Given the description of an element on the screen output the (x, y) to click on. 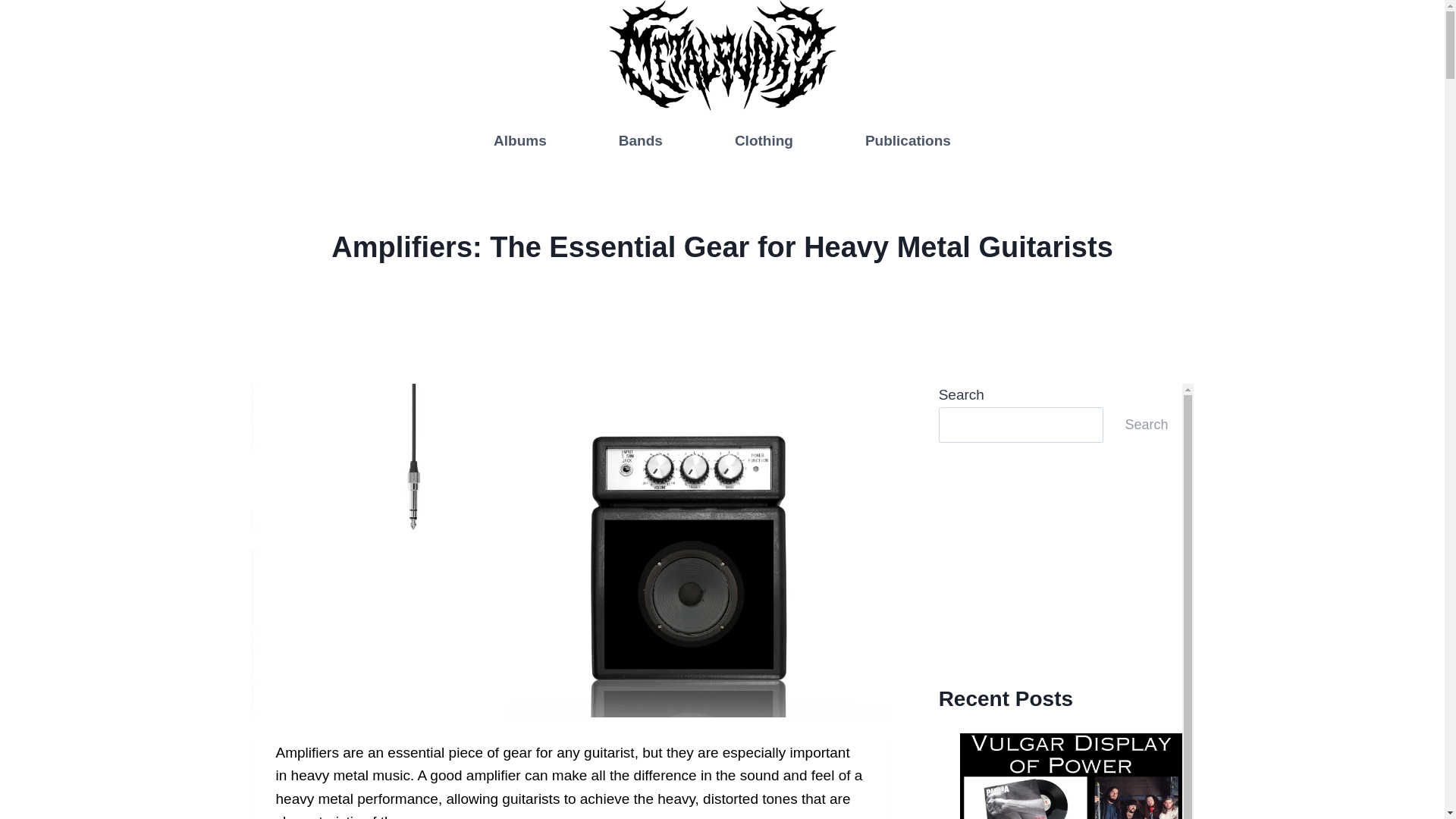
Albums (520, 141)
Publications (907, 141)
Clothing (763, 141)
Bands (640, 141)
